Given the description of an element on the screen output the (x, y) to click on. 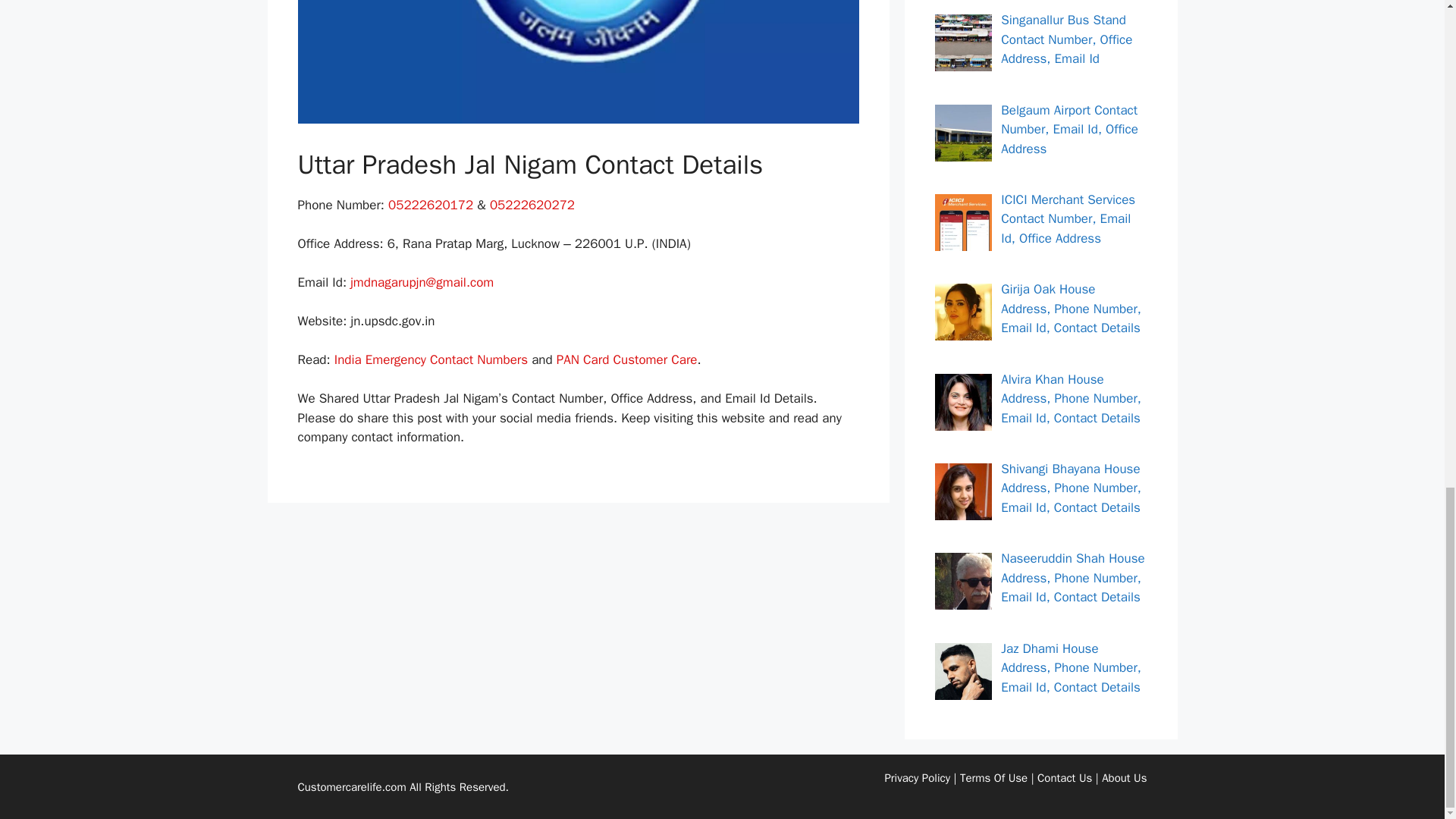
05222620272 (532, 204)
India Emergency Contact Numbers (430, 359)
PAN Card Customer Care (626, 359)
Uttar Pradesh Jal Nigam (578, 61)
05222620172 (430, 204)
